Given the description of an element on the screen output the (x, y) to click on. 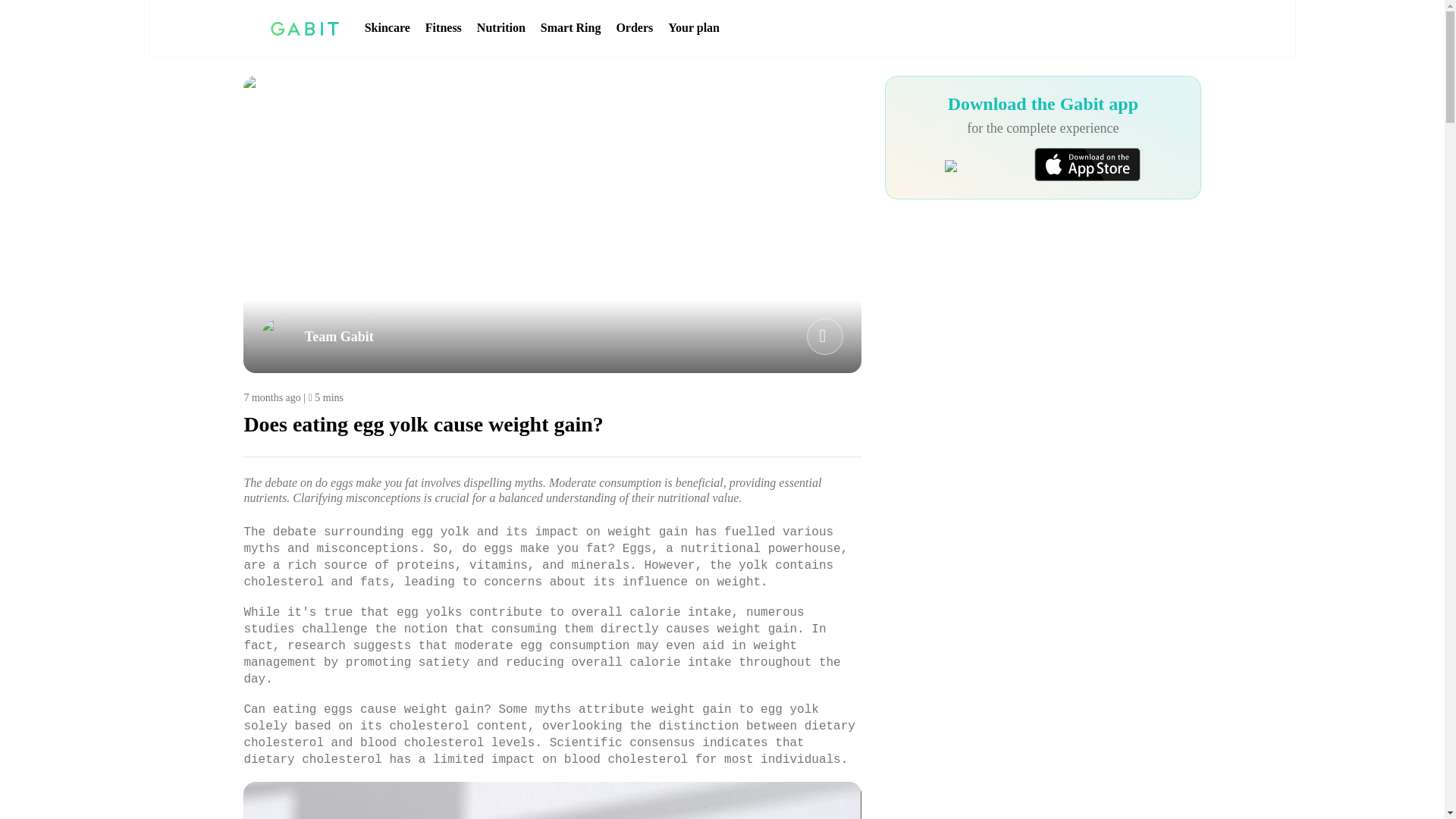
Your plan (693, 27)
Fitness (443, 27)
Skincare (387, 27)
Smart Ring (570, 27)
Orders (633, 27)
Nutrition (501, 27)
